Given the description of an element on the screen output the (x, y) to click on. 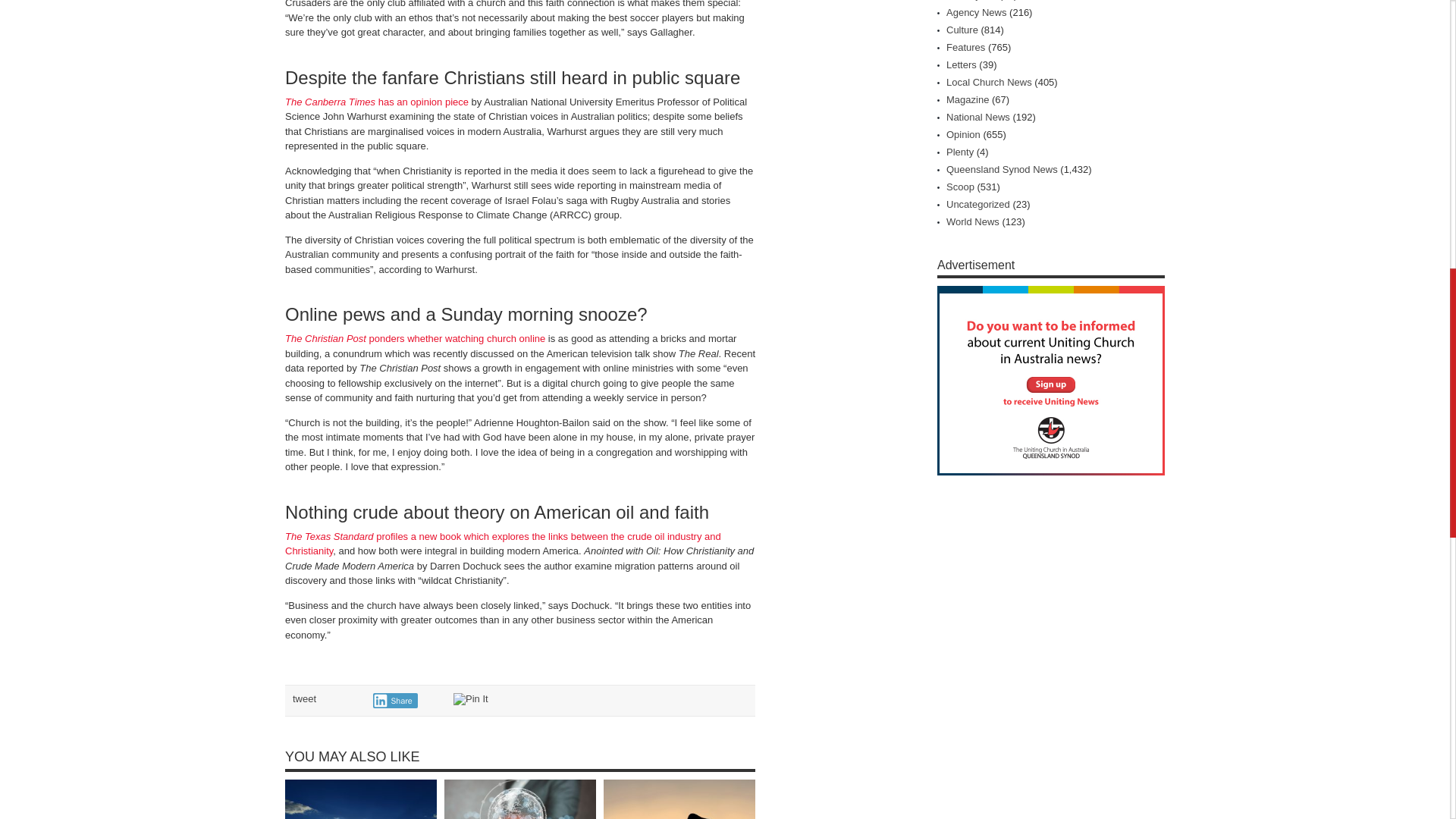
The Christian Post ponders whether watching church online (414, 337)
tweet (303, 698)
Pin It (469, 698)
The Canberra Times has an opinion piece (376, 101)
Share (394, 700)
